Given the description of an element on the screen output the (x, y) to click on. 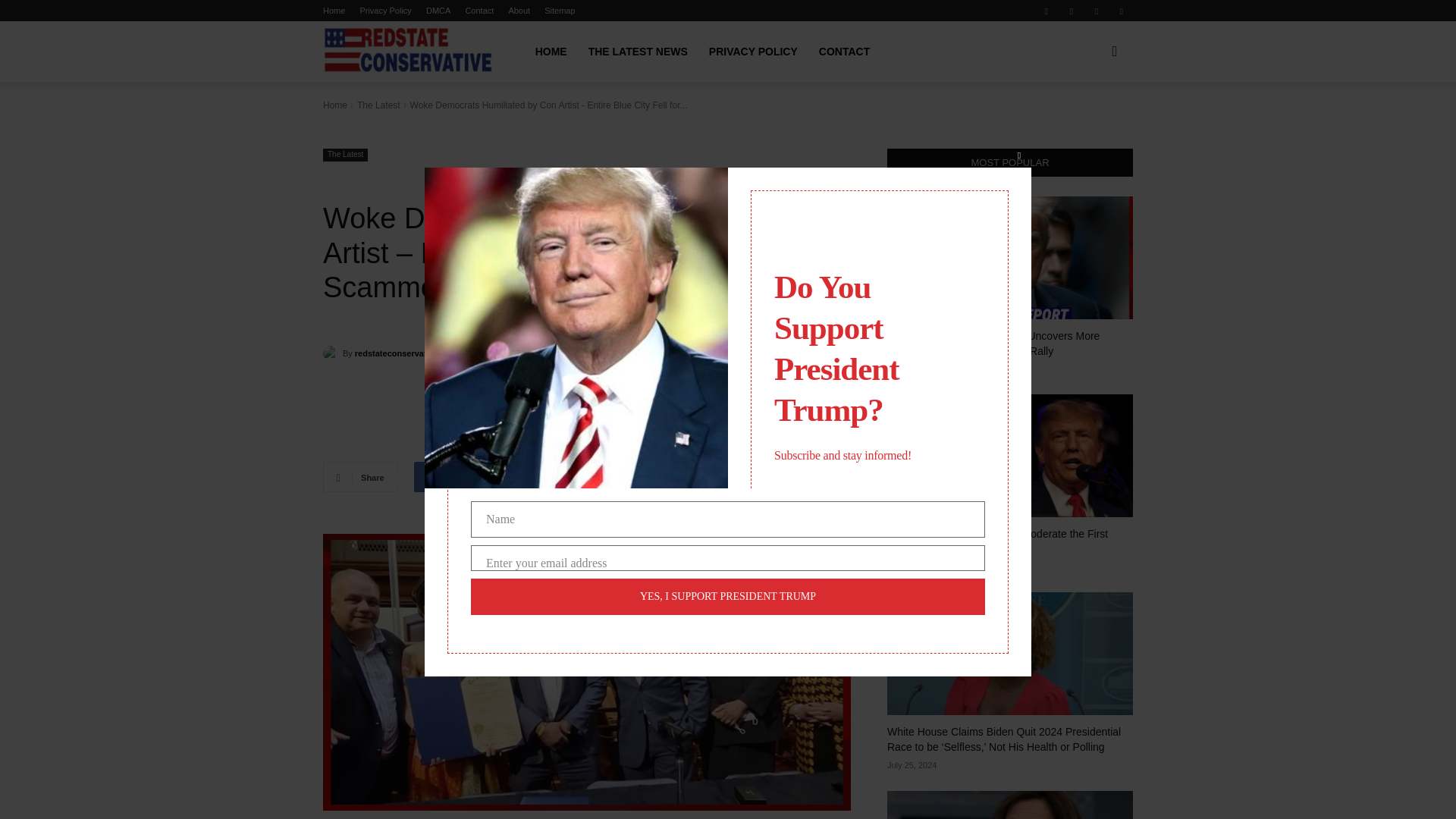
PRIVACY POLICY (753, 51)
THE LATEST NEWS (638, 51)
Facebook (1046, 10)
The Latest (378, 104)
Facebook (428, 476)
redstateconservative (332, 353)
View all posts in The Latest (378, 104)
RSS (1096, 10)
About (518, 10)
CONTACT (844, 51)
Sitemap (559, 10)
The Latest (345, 154)
redstateconservative (396, 353)
Twitter (1120, 10)
Red State Conservative (408, 51)
